Given the description of an element on the screen output the (x, y) to click on. 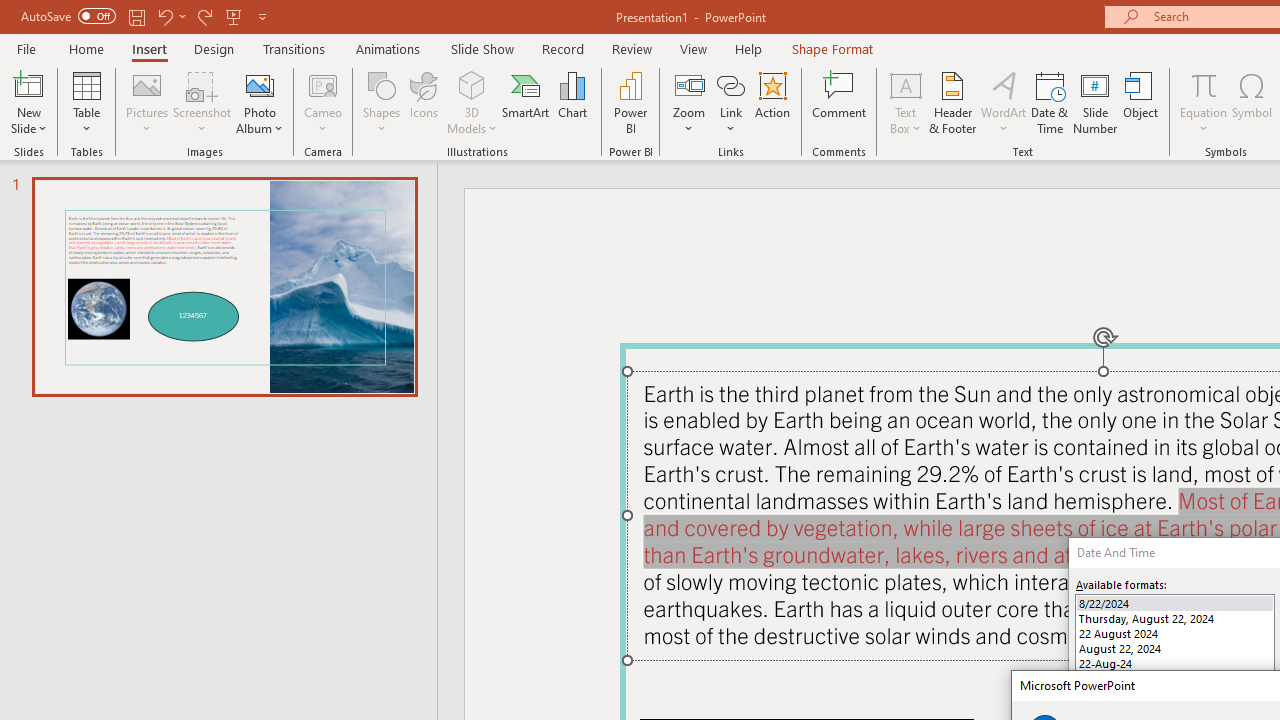
3D Models (472, 84)
View (693, 48)
Home (86, 48)
AutoSave (68, 16)
Table (86, 102)
Pictures (147, 102)
Header & Footer... (952, 102)
Object... (1141, 102)
Slide Number (1095, 102)
WordArt (1004, 102)
Link (731, 102)
Customize Quick Access Toolbar (262, 15)
Animations (388, 48)
